Given the description of an element on the screen output the (x, y) to click on. 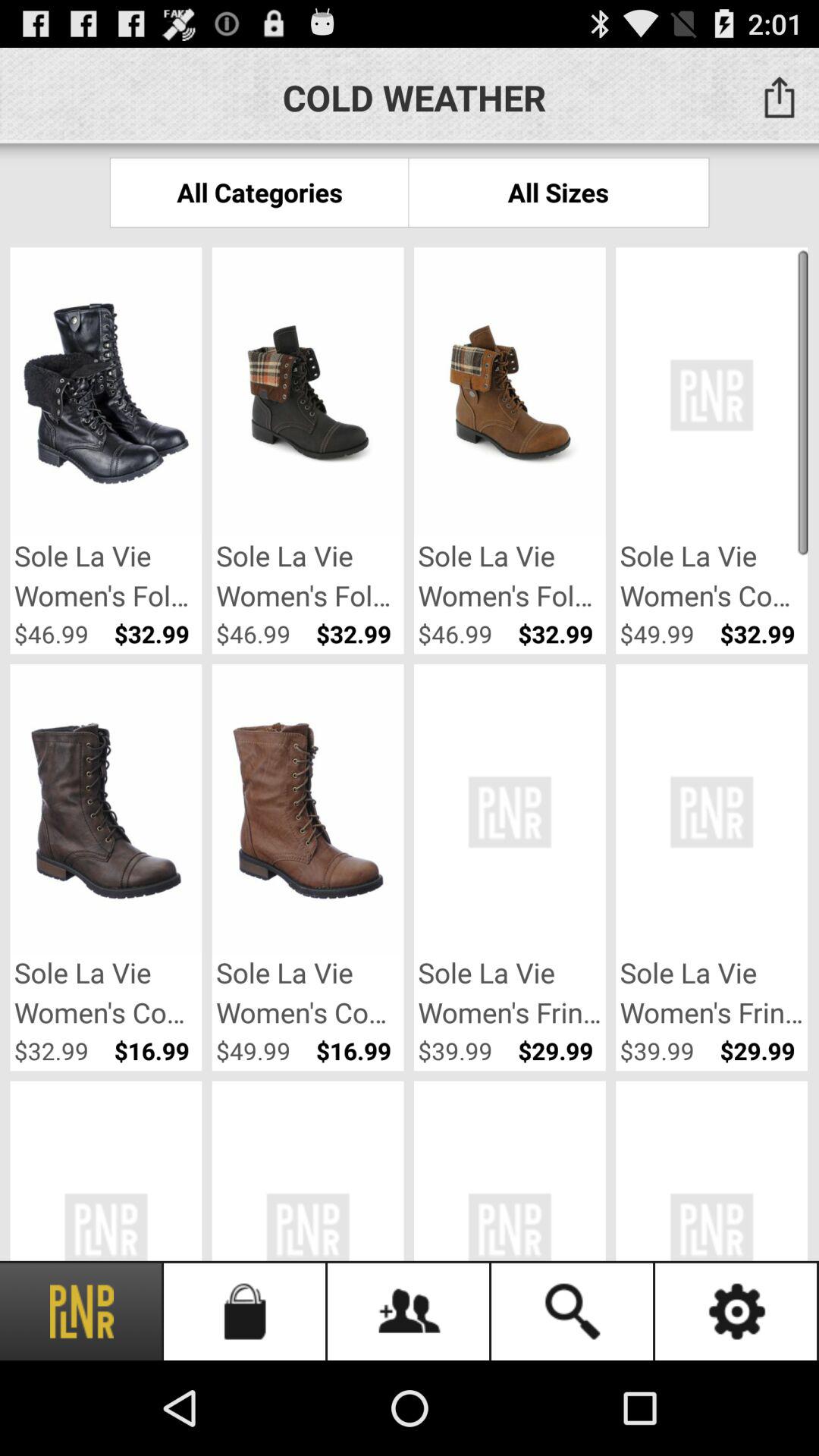
jump until all sizes item (558, 192)
